Given the description of an element on the screen output the (x, y) to click on. 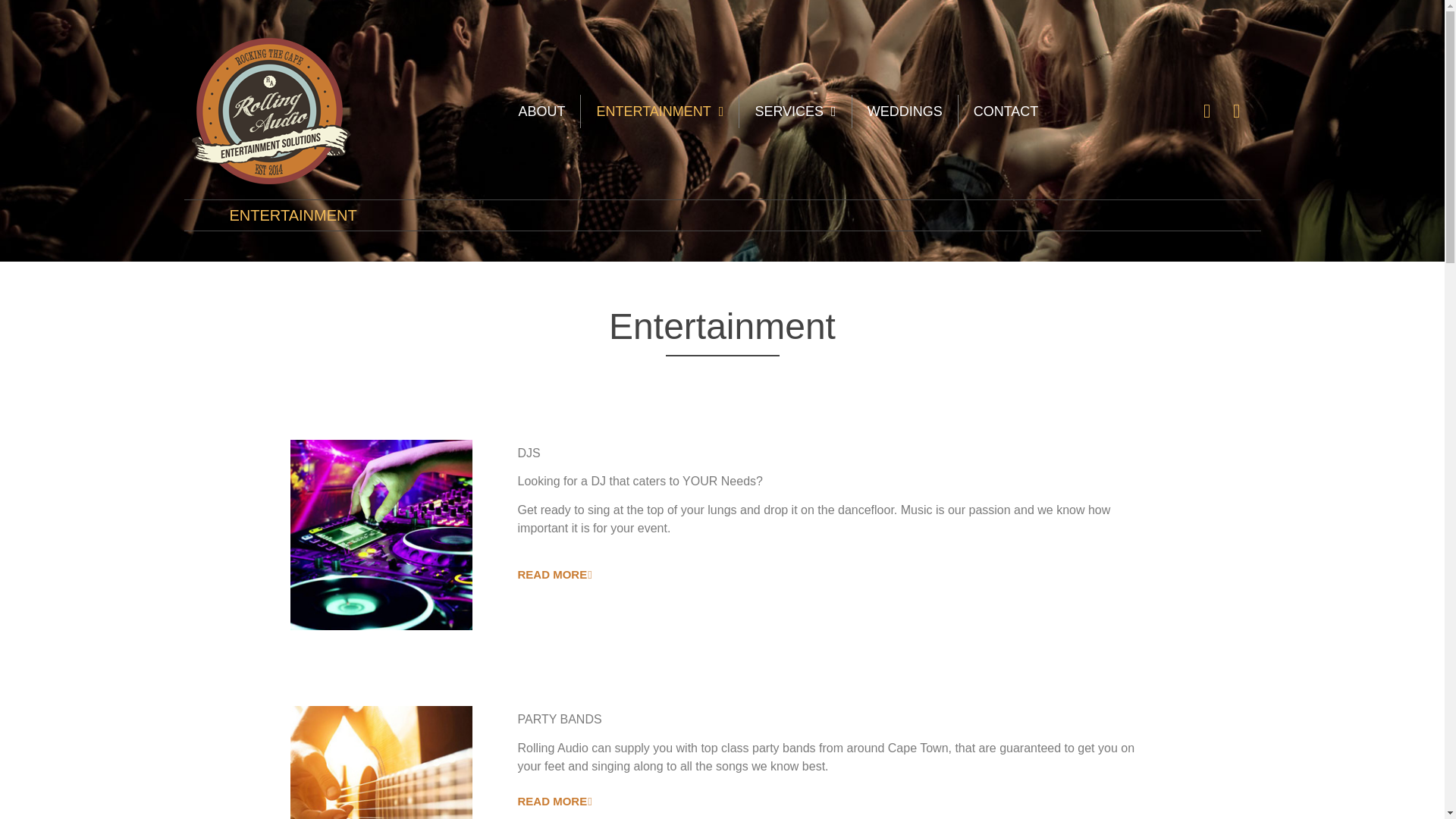
READ MORE (553, 574)
ABOUT (540, 111)
SERVICES (794, 111)
READ MORE (553, 800)
CONTACT (1006, 111)
WEDDINGS (904, 111)
ENTERTAINMENT (659, 111)
